Given the description of an element on the screen output the (x, y) to click on. 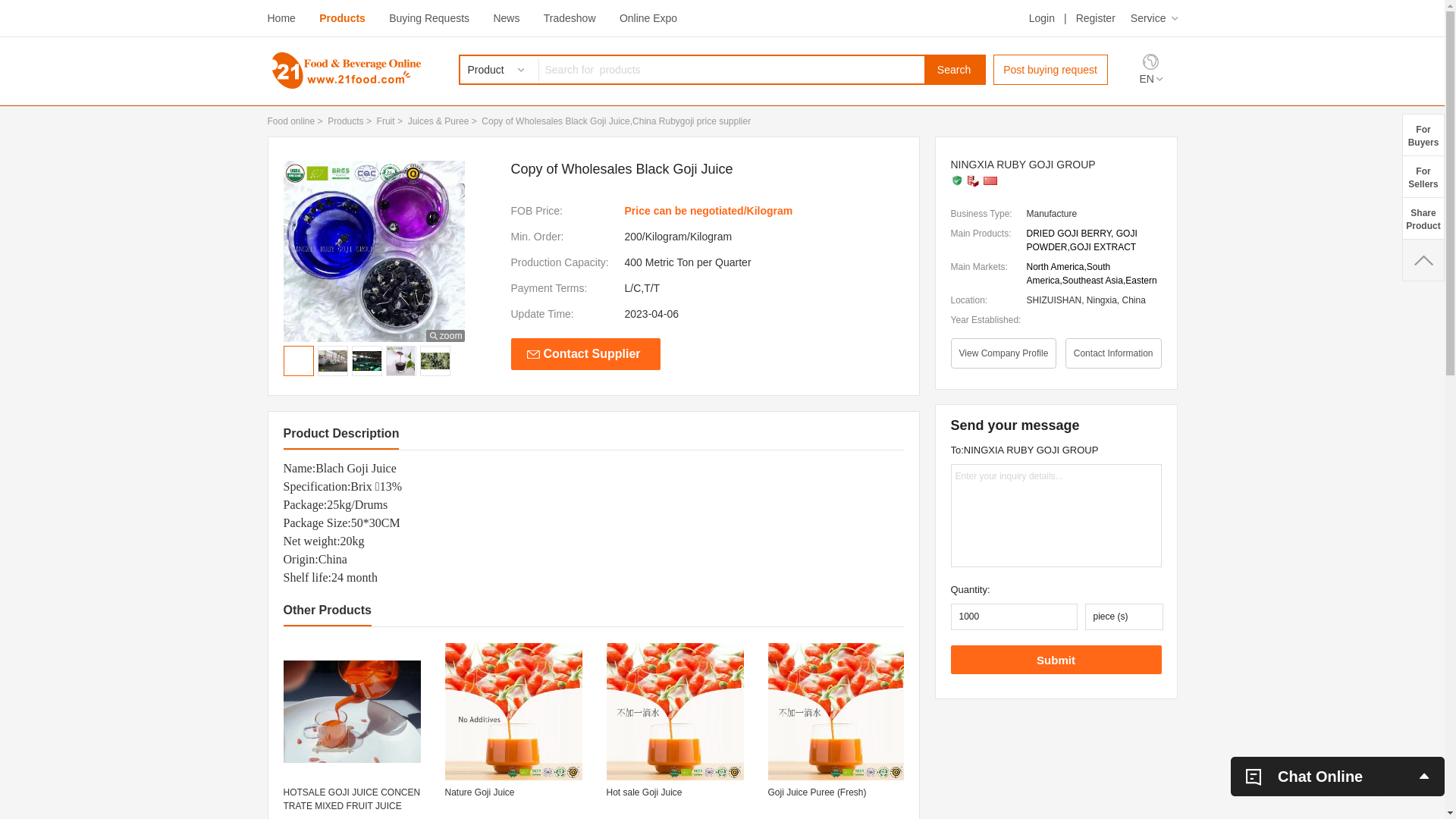
Products Element type: text (345, 121)
Register Element type: text (1095, 18)
Contact Information Element type: text (1113, 353)
EN Element type: text (1150, 78)
Hot sale Goji Juice Element type: text (674, 798)
Buying Requests Element type: text (429, 18)
NINGXIA RUBY GOJI GROUP Element type: text (1055, 164)
Nature Goji Juice Element type: text (512, 798)
Service Element type: text (1153, 18)
Login Element type: text (1041, 18)
Submit Element type: text (1055, 659)
Contact Supplier Element type: text (585, 354)
Fruit Element type: text (385, 121)
  Element type: text (1423, 259)
Share
Product Element type: text (1423, 217)
View Company Profile Element type: text (1003, 353)
Tradeshow Element type: text (569, 18)
For
Sellers Element type: text (1423, 176)
Online Expo Element type: text (648, 18)
Manufacture Element type: hover (972, 180)
News Element type: text (505, 18)
China Element type: hover (990, 180)
Post buying request Element type: text (1050, 69)
Juices & Puree Element type: text (438, 121)
Home Element type: text (280, 18)
Goji Juice Puree (Fresh) Element type: text (835, 798)
Food online Element type: text (290, 121)
Products Element type: text (342, 18)
Search Element type: text (953, 69)
HOTSALE GOJI JUICE CONCENTRATE MIXED FRUIT JUICE Element type: text (351, 798)
For
Buyers Element type: text (1423, 134)
